Given the description of an element on the screen output the (x, y) to click on. 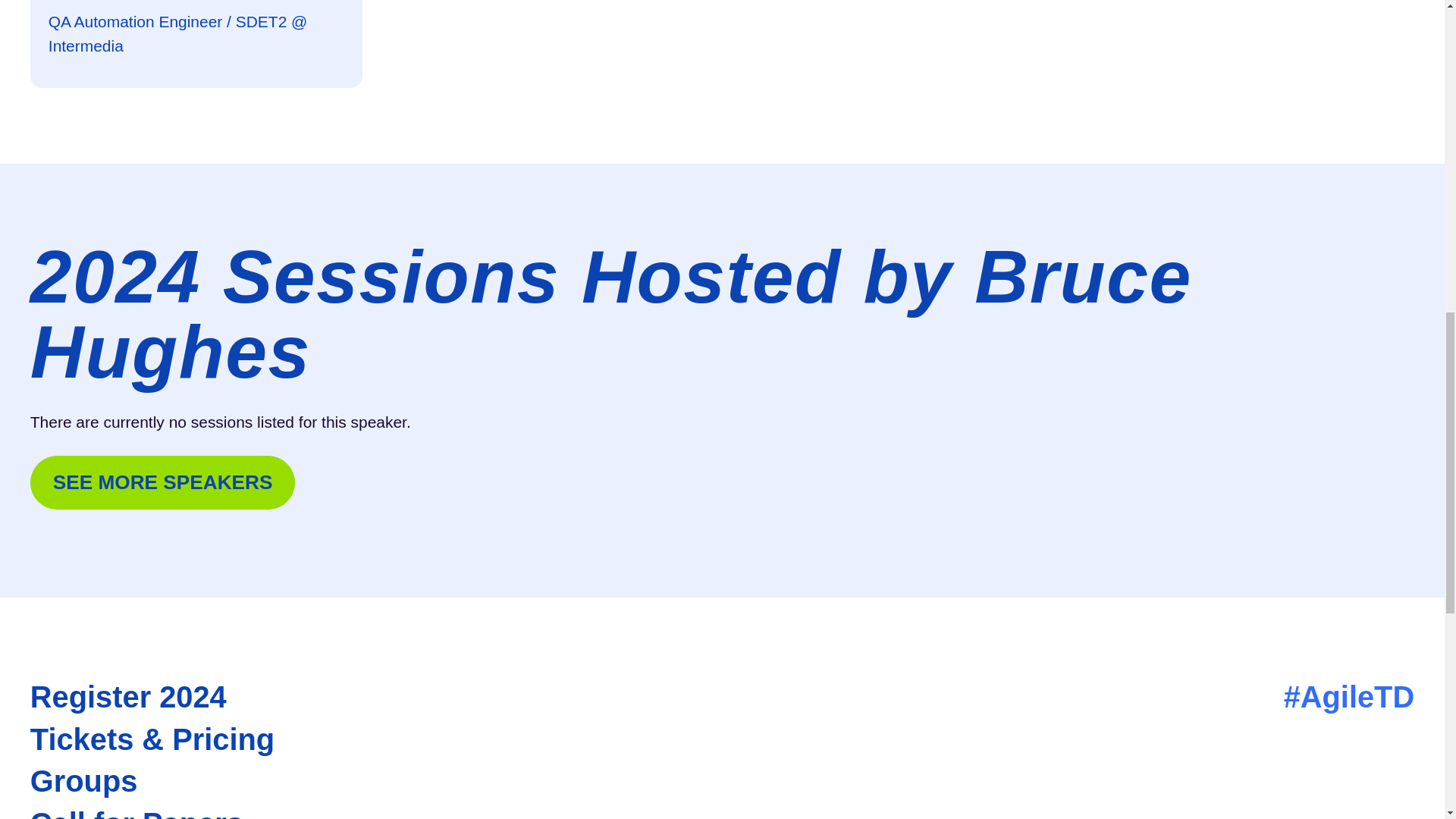
Register 2024 (152, 696)
Groups (152, 781)
Call for Papers (152, 812)
SEE MORE SPEAKERS (162, 482)
